Given the description of an element on the screen output the (x, y) to click on. 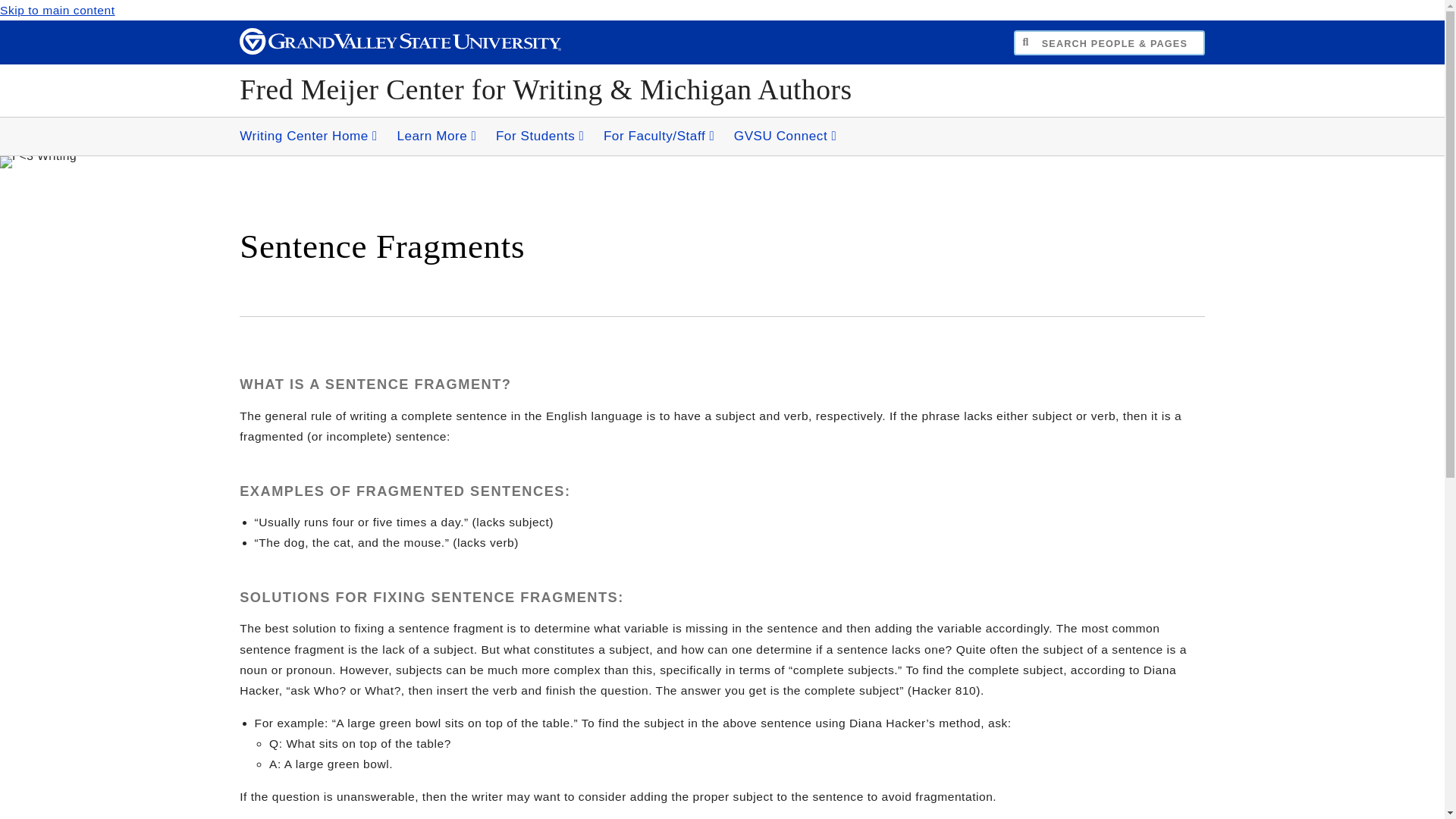
Skip to main content (57, 10)
Writing Center Home (308, 136)
Learn More (435, 136)
For Students (539, 136)
GVSU Connect (785, 136)
